Given the description of an element on the screen output the (x, y) to click on. 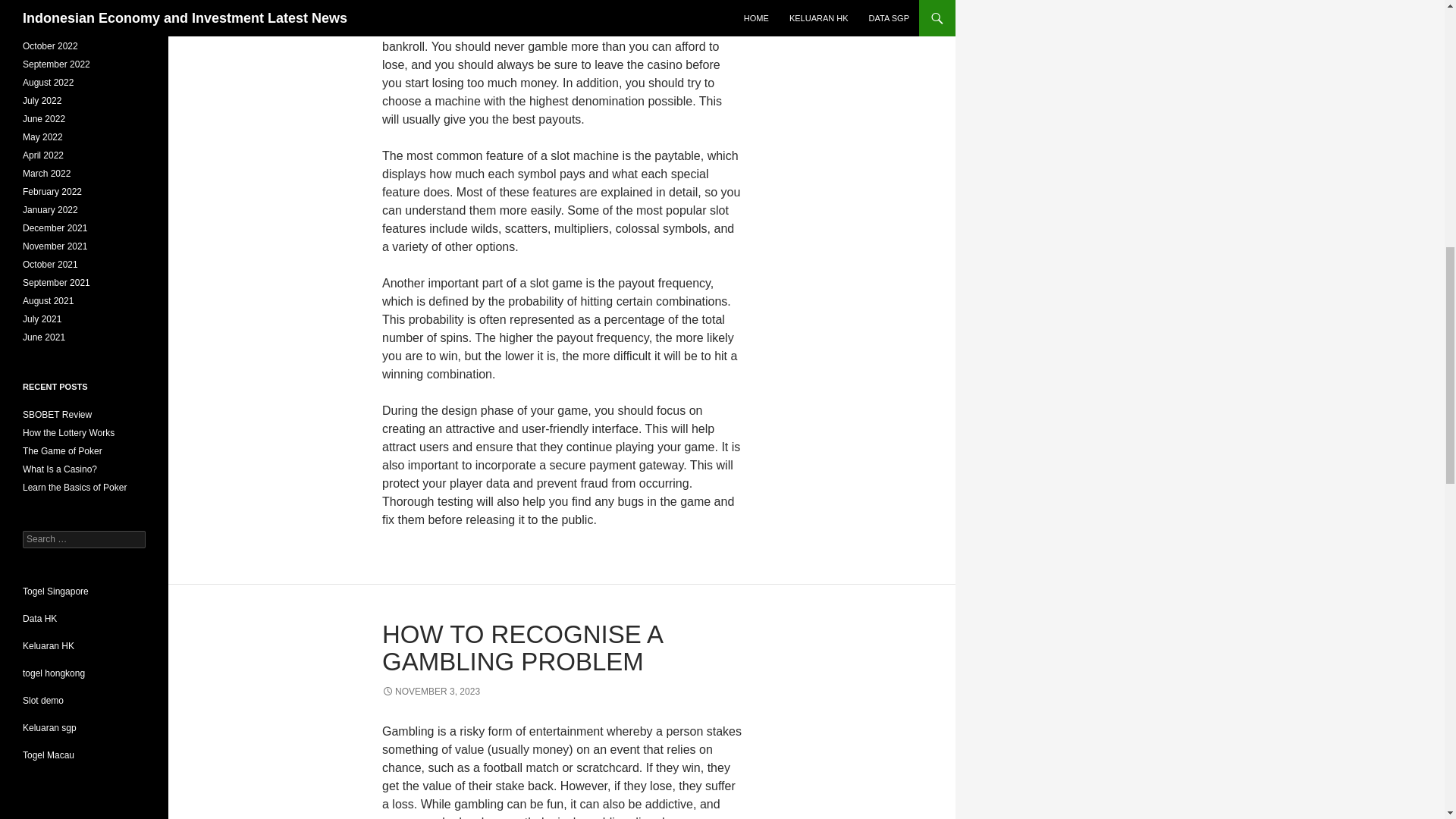
HOW TO RECOGNISE A GAMBLING PROBLEM (521, 647)
NOVEMBER 3, 2023 (430, 691)
